Given the description of an element on the screen output the (x, y) to click on. 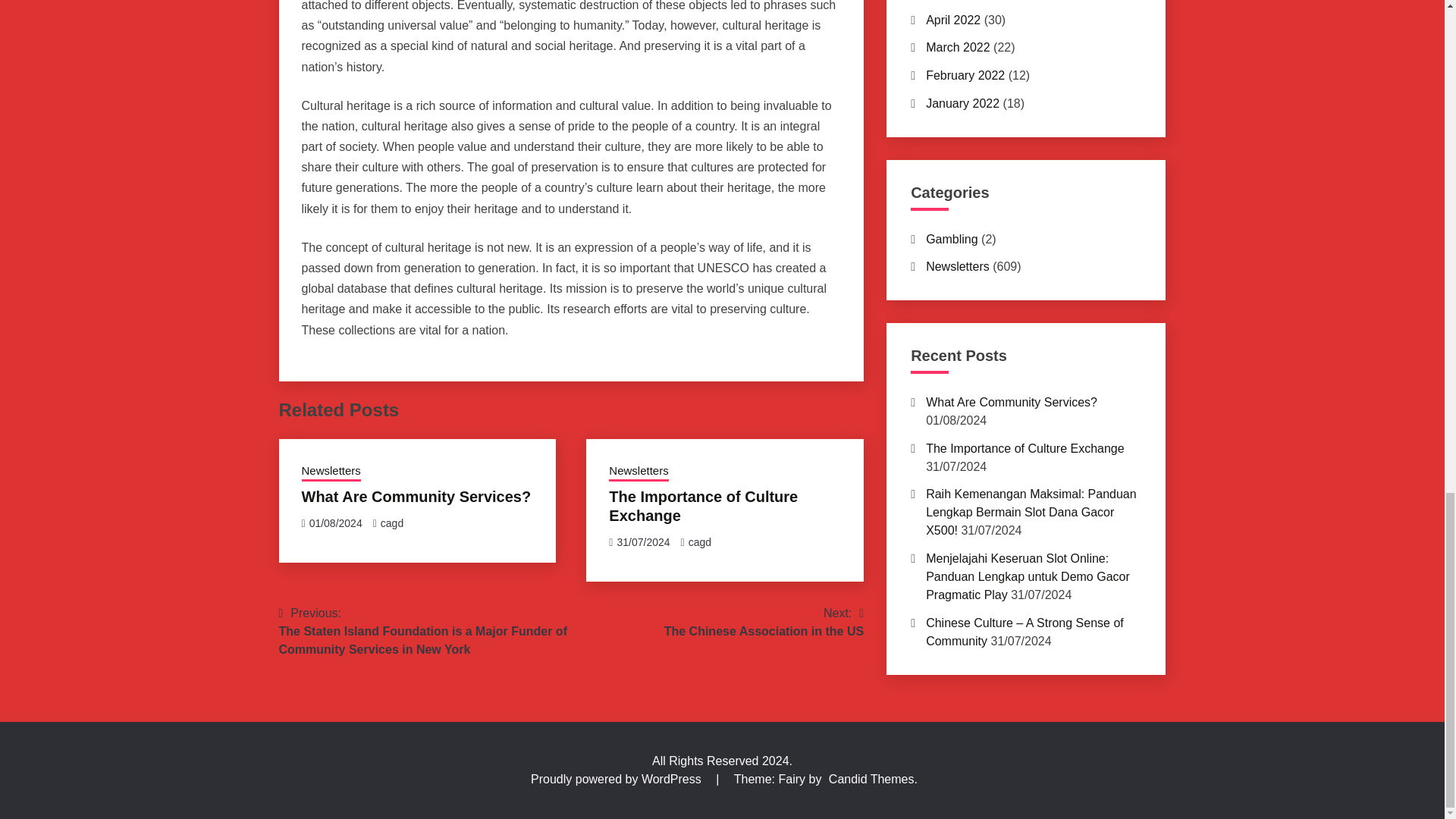
cagd (699, 541)
cagd (391, 522)
Newsletters (331, 472)
Newsletters (763, 622)
What Are Community Services? (638, 472)
The Importance of Culture Exchange (416, 496)
